Given the description of an element on the screen output the (x, y) to click on. 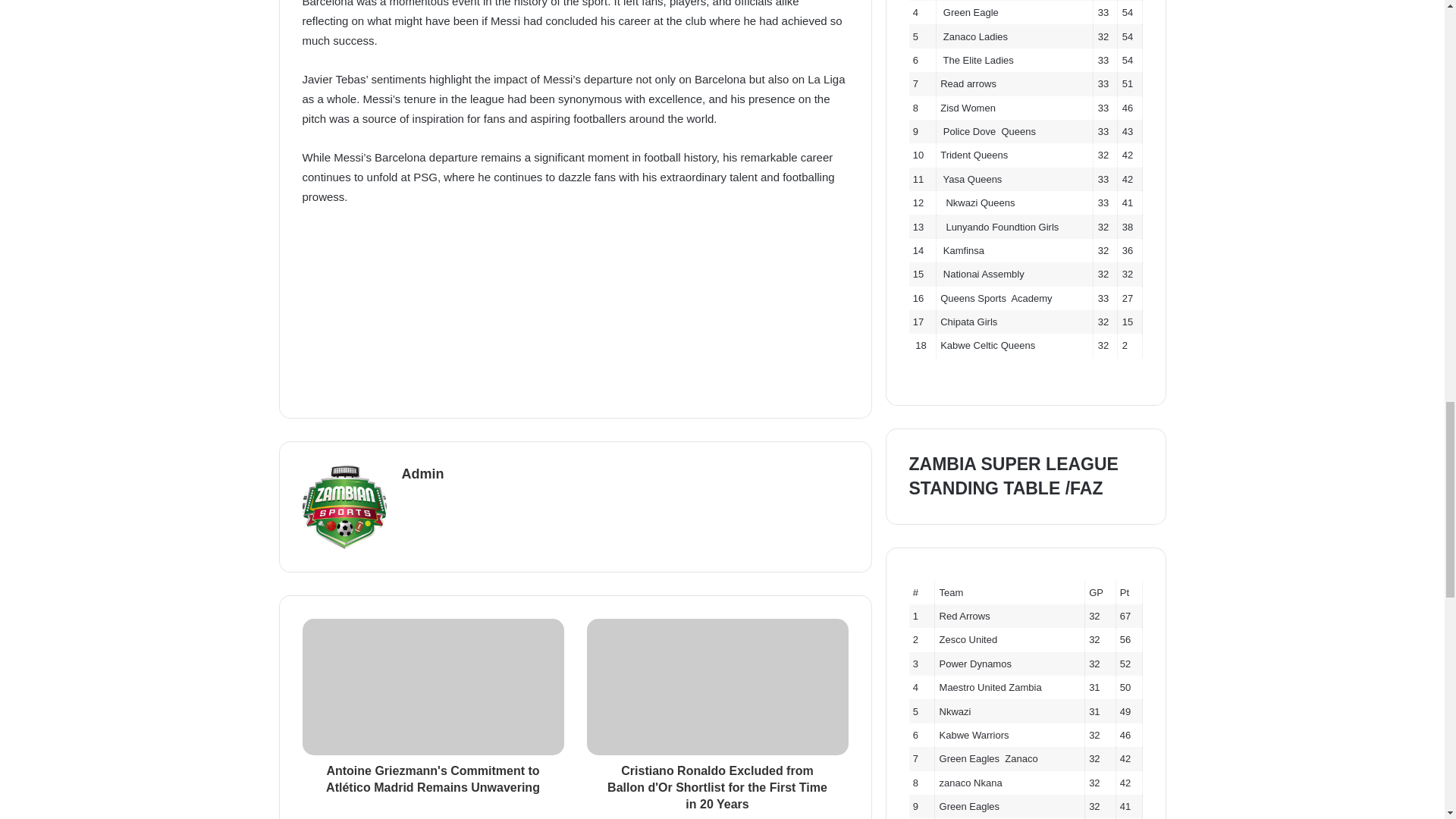
Admin (422, 473)
Website (410, 501)
